Given the description of an element on the screen output the (x, y) to click on. 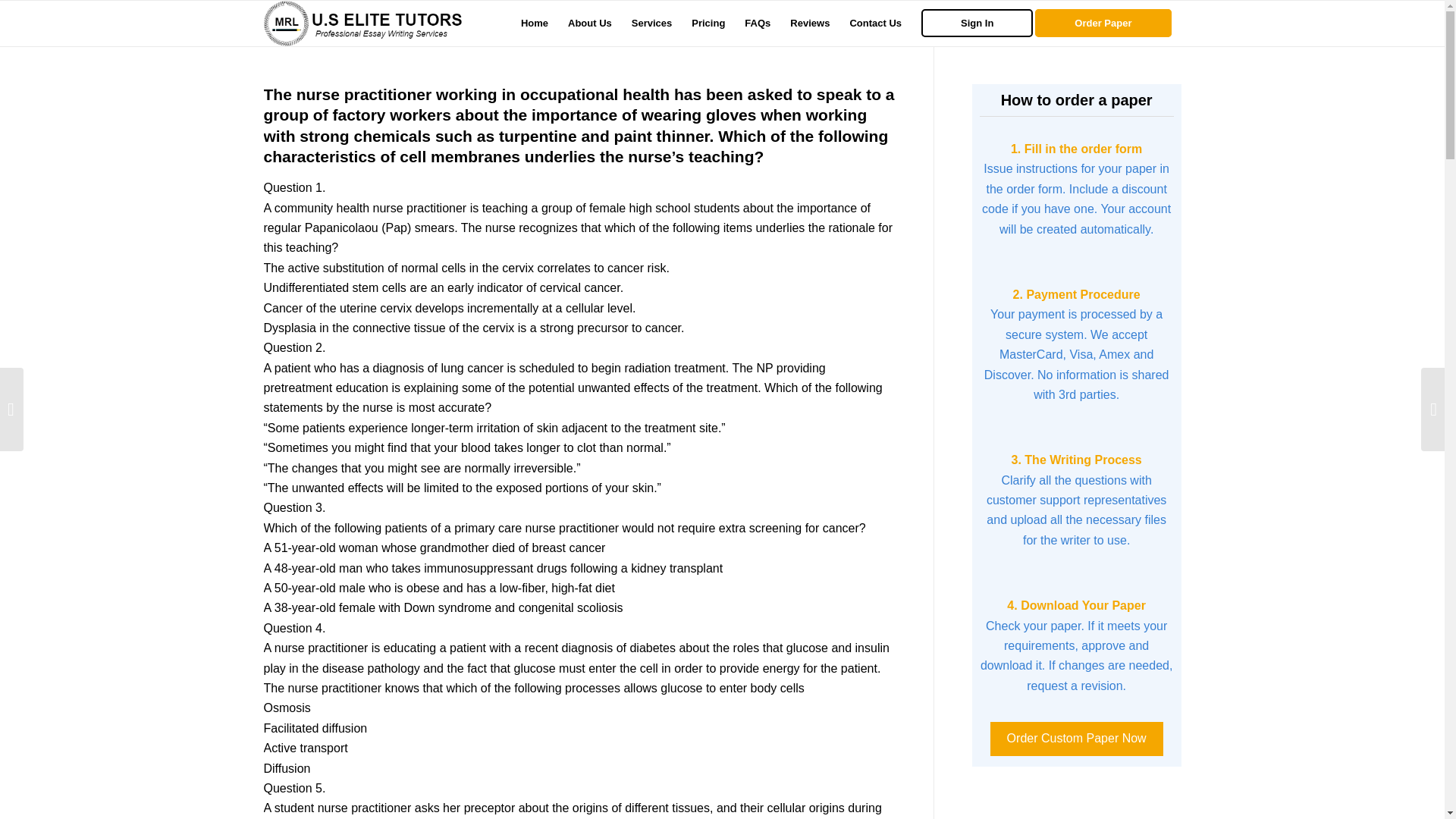
About Us (589, 22)
Reviews (810, 22)
Sign In (976, 22)
Order Custom Paper Now (1076, 738)
Home (534, 22)
Order Paper (1107, 22)
Pricing (708, 22)
157561940224894819 (363, 22)
Services (651, 22)
Contact Us (875, 22)
